Given the description of an element on the screen output the (x, y) to click on. 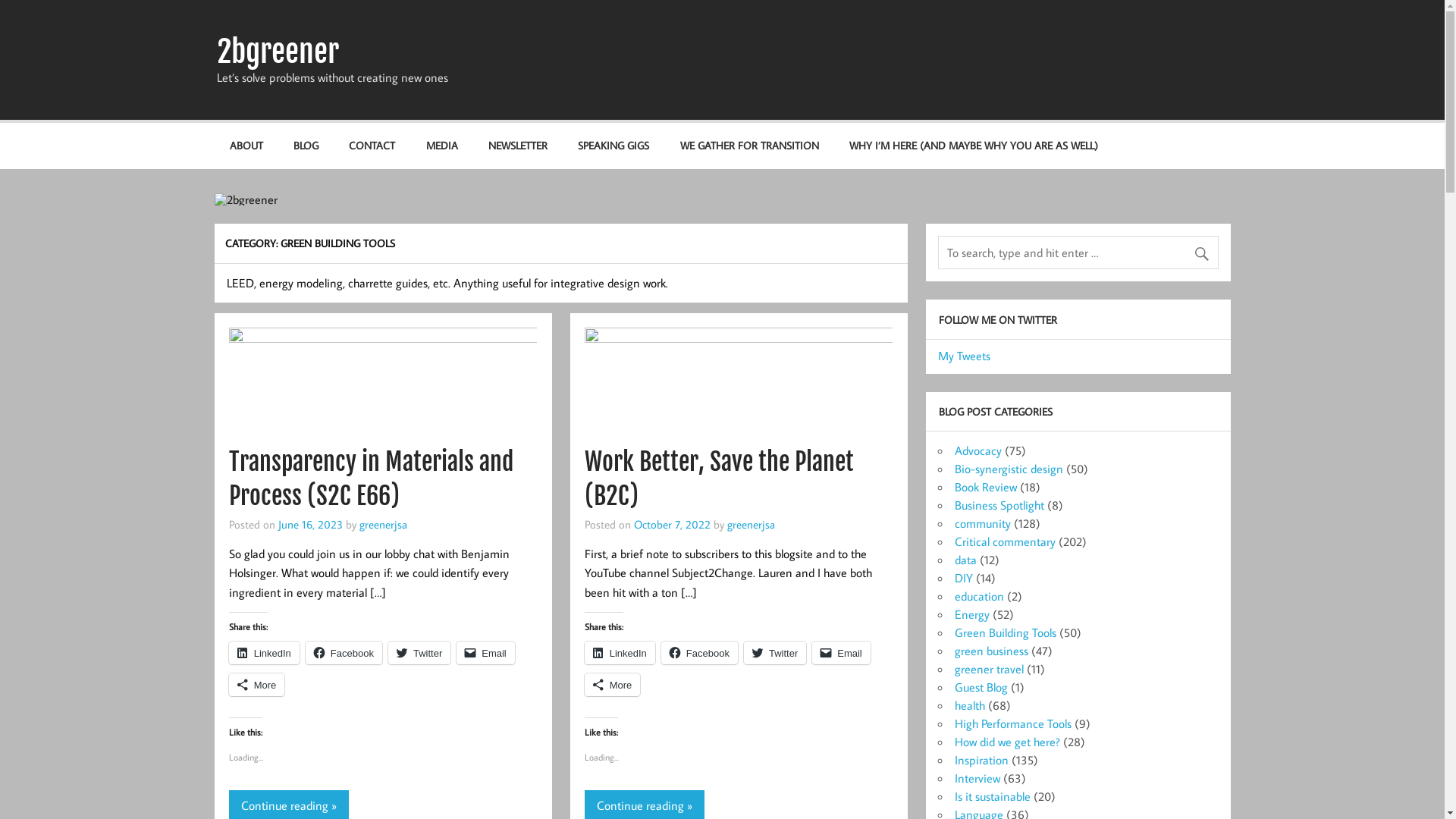
health Element type: text (968, 704)
DIY Element type: text (962, 577)
October 7, 2022 Element type: text (671, 523)
Email Element type: text (841, 652)
greenerjsa Element type: text (383, 523)
greener travel Element type: text (987, 668)
NEWSLETTER Element type: text (517, 145)
data Element type: text (964, 559)
More Element type: text (257, 684)
My Tweets Element type: text (963, 355)
Bio-synergistic design Element type: text (1007, 468)
LinkedIn Element type: text (264, 652)
Transparency in Materials and Process (S2C E66) Element type: text (371, 478)
Email Element type: text (485, 652)
SPEAKING GIGS Element type: text (613, 145)
Guest Blog Element type: text (980, 686)
MEDIA Element type: text (441, 145)
Green Building Tools Element type: text (1004, 632)
Is it sustainable Element type: text (991, 795)
Twitter Element type: text (774, 652)
High Performance Tools Element type: text (1011, 723)
community Element type: text (981, 522)
Interview Element type: text (976, 777)
LinkedIn Element type: text (619, 652)
ABOUT Element type: text (245, 145)
Book Review Element type: text (984, 486)
Business Spotlight Element type: text (998, 504)
WE GATHER FOR TRANSITION Element type: text (748, 145)
Work Better, Save the Planet (B2C) Element type: text (718, 478)
2bgreener Element type: text (277, 51)
education Element type: text (978, 595)
Facebook Element type: text (343, 652)
More Element type: text (612, 684)
BLOG Element type: text (305, 145)
greenerjsa Element type: text (751, 523)
Advocacy Element type: text (977, 450)
Energy Element type: text (970, 613)
June 16, 2023 Element type: text (310, 523)
green business Element type: text (990, 650)
Inspiration Element type: text (980, 759)
Critical commentary Element type: text (1003, 541)
Facebook Element type: text (699, 652)
Twitter Element type: text (419, 652)
CONTACT Element type: text (371, 145)
How did we get here? Element type: text (1006, 741)
